Given the description of an element on the screen output the (x, y) to click on. 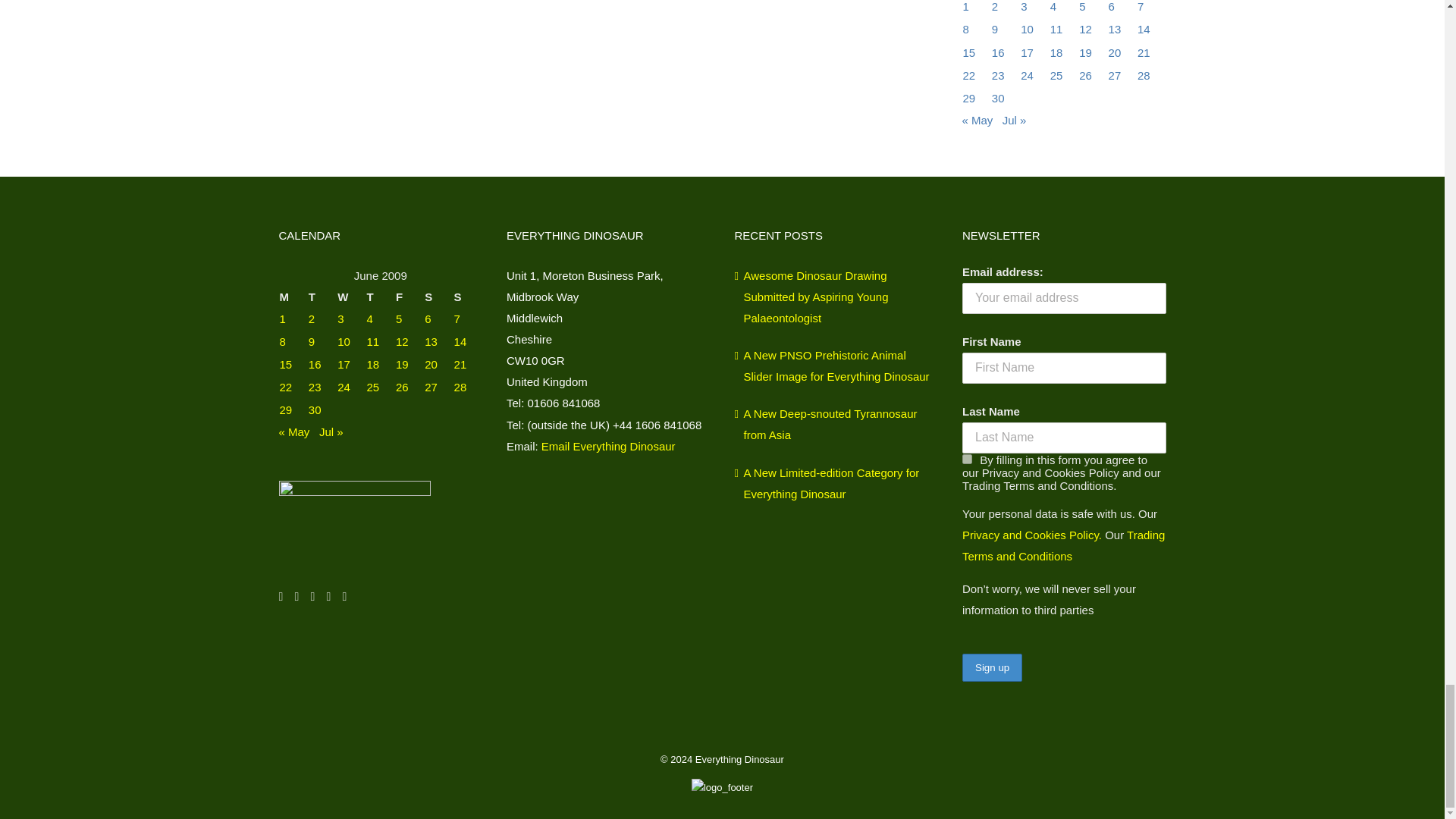
subscribe (967, 459)
Sign up (992, 667)
